Given the description of an element on the screen output the (x, y) to click on. 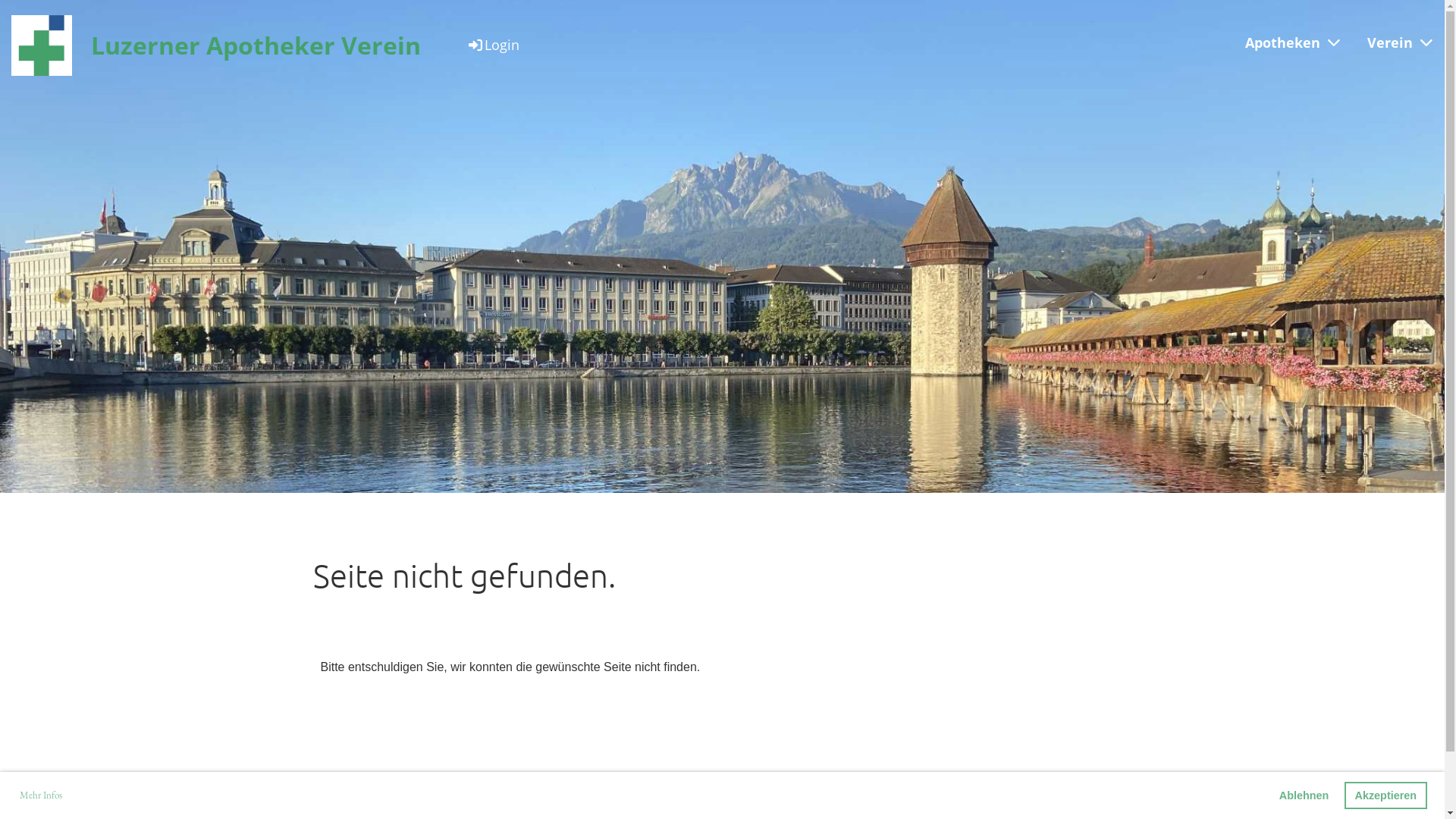
Mehr Infos Element type: text (40, 795)
Verein Element type: text (1399, 42)
Apotheken Element type: text (1292, 42)
Ablehnen Element type: text (1303, 795)
Login Element type: text (492, 44)
Akzeptieren Element type: text (1385, 795)
Luzerner Apotheker Verein Element type: text (255, 45)
